Given the description of an element on the screen output the (x, y) to click on. 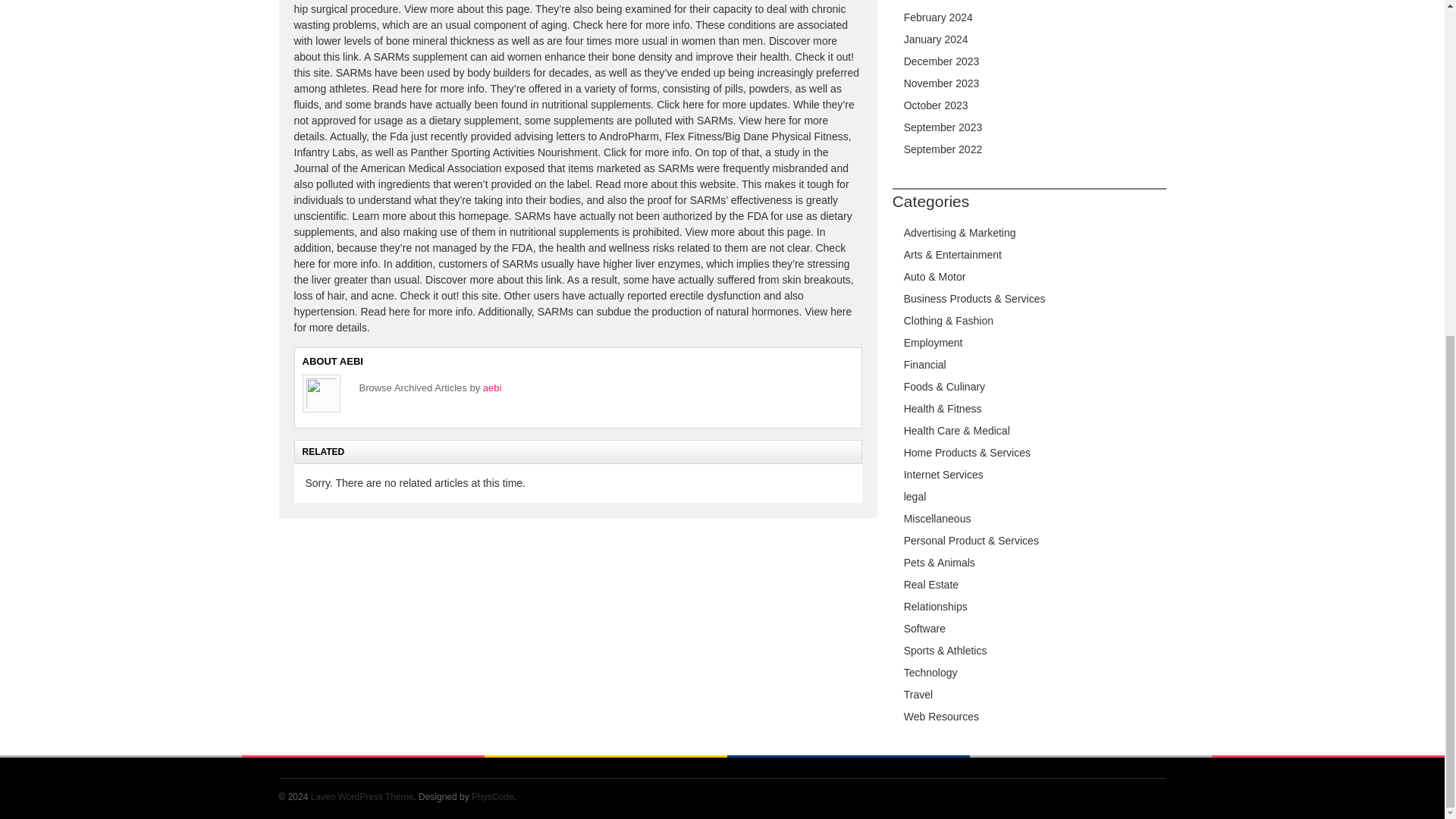
Financial (925, 364)
September 2022 (943, 149)
Miscellaneous (937, 518)
December 2023 (941, 61)
September 2023 (943, 127)
February 2024 (938, 17)
Learn more (379, 215)
October 2023 (936, 105)
legal (915, 496)
November 2023 (941, 82)
Internet Services (944, 474)
aebi (492, 387)
Employment (933, 342)
January 2024 (936, 39)
March 2024 (931, 0)
